Given the description of an element on the screen output the (x, y) to click on. 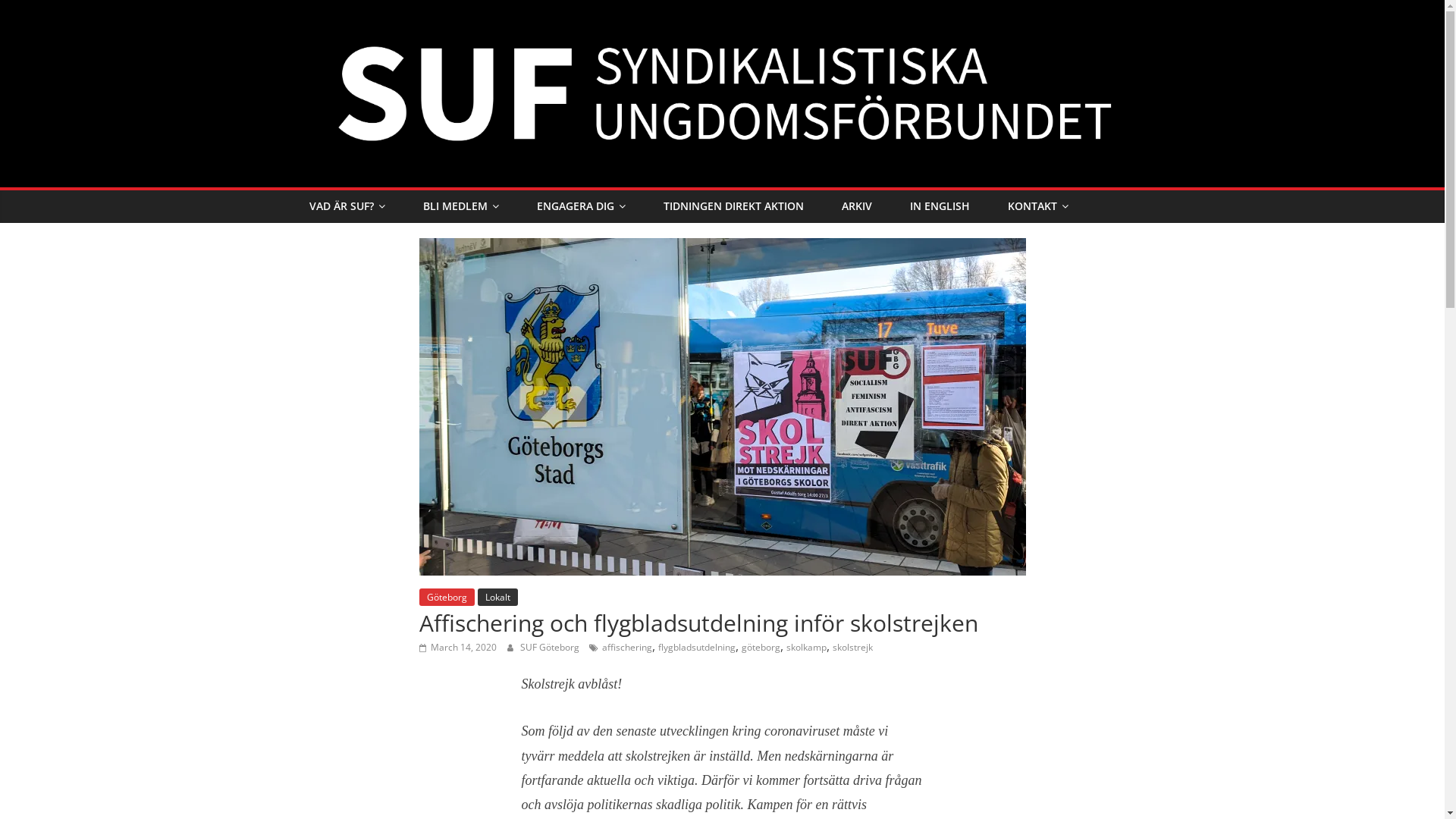
TIDNINGEN DIREKT AKTION Element type: text (733, 206)
KONTAKT Element type: text (1037, 206)
SUF Element type: hover (722, 8)
flygbladsutdelning Element type: text (696, 646)
ENGAGERA DIG Element type: text (580, 206)
IN ENGLISH Element type: text (939, 206)
affischering Element type: text (627, 646)
skolkamp Element type: text (805, 646)
March 14, 2020 Element type: text (456, 646)
Lokalt Element type: text (497, 596)
ARKIV Element type: text (856, 206)
BLI MEDLEM Element type: text (460, 206)
skolstrejk Element type: text (852, 646)
